Given the description of an element on the screen output the (x, y) to click on. 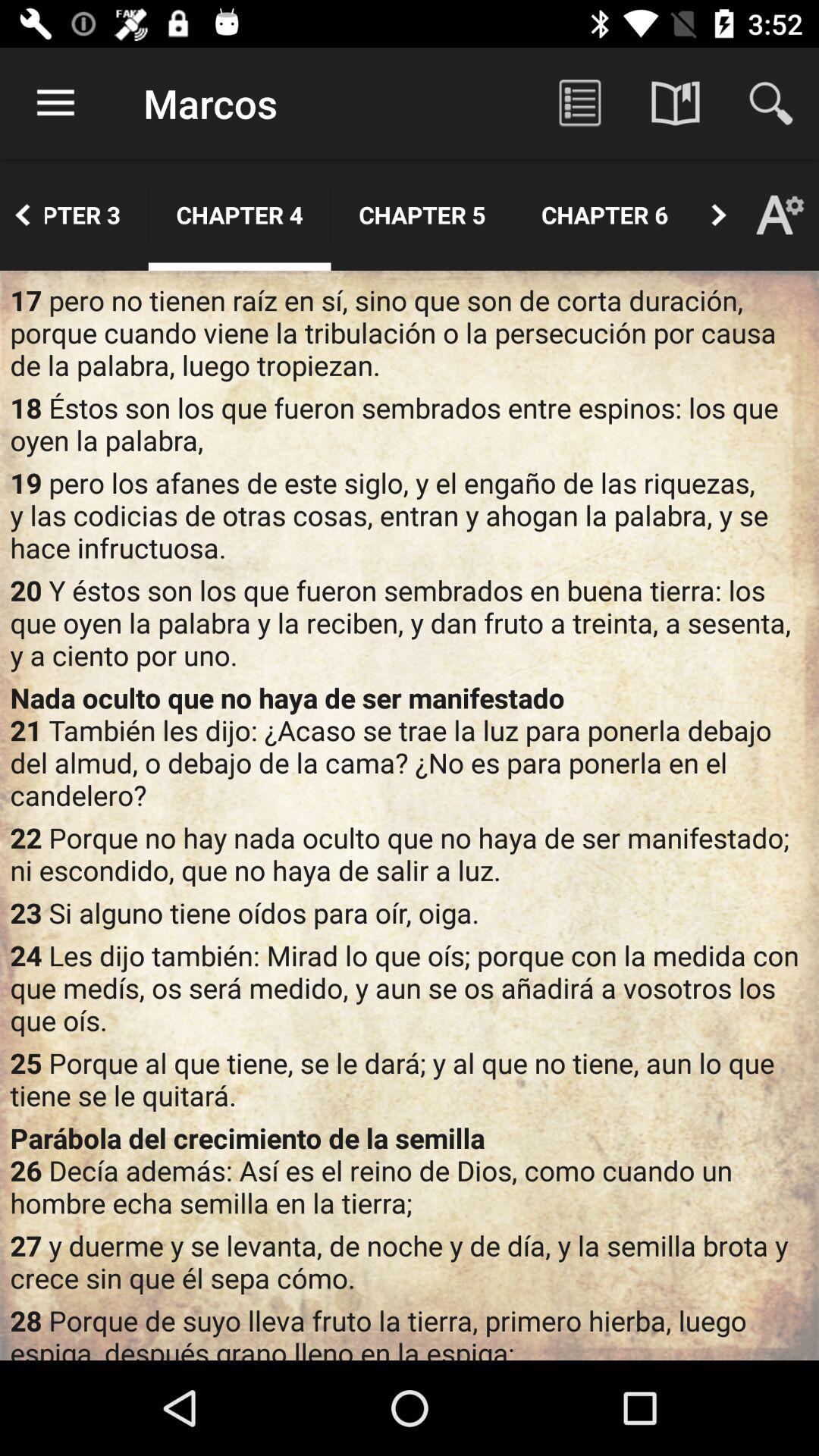
choose app to the right of chapter 4 app (422, 214)
